Given the description of an element on the screen output the (x, y) to click on. 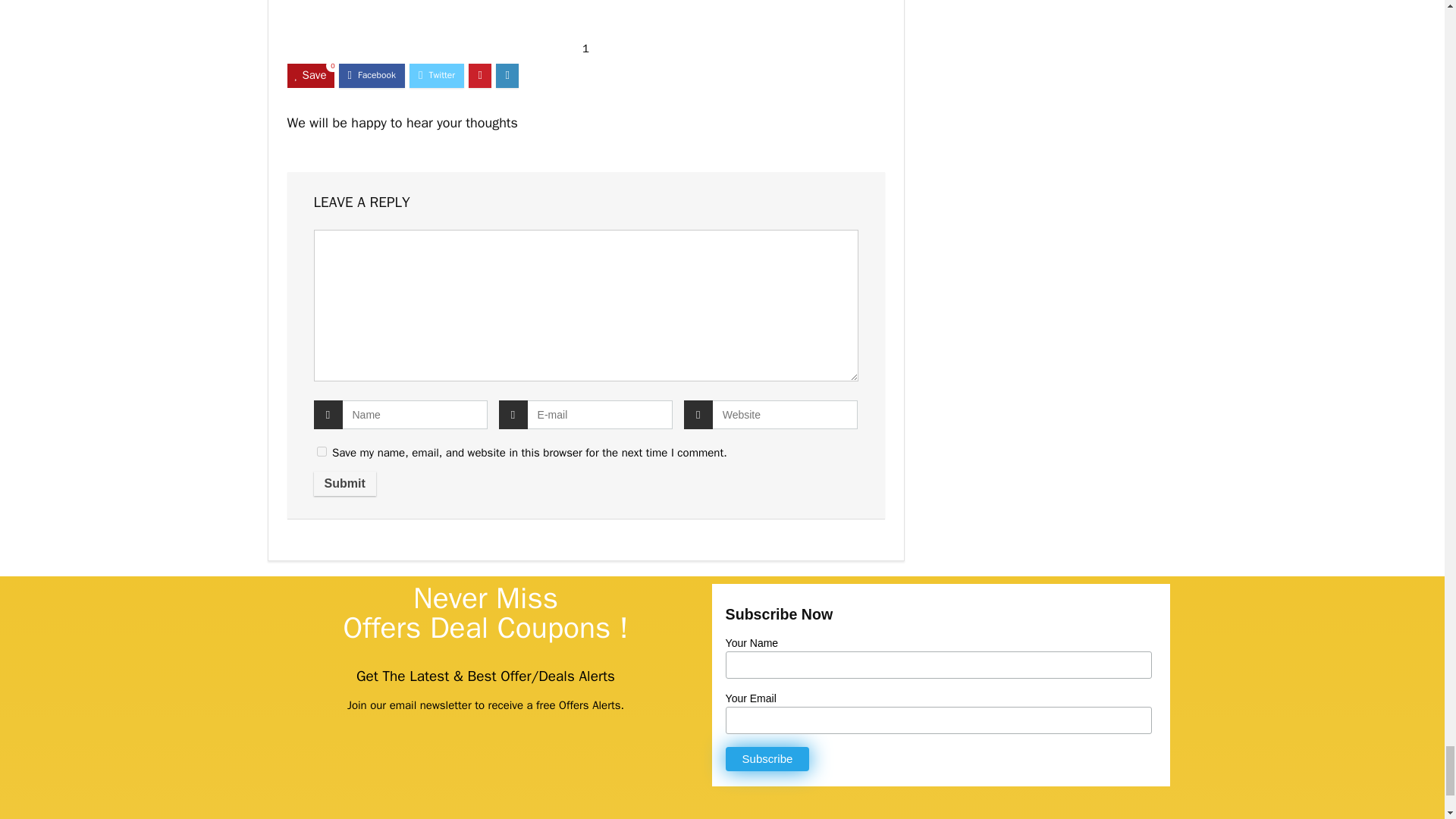
Subscribe (767, 758)
Submit (344, 483)
yes (321, 451)
